Given the description of an element on the screen output the (x, y) to click on. 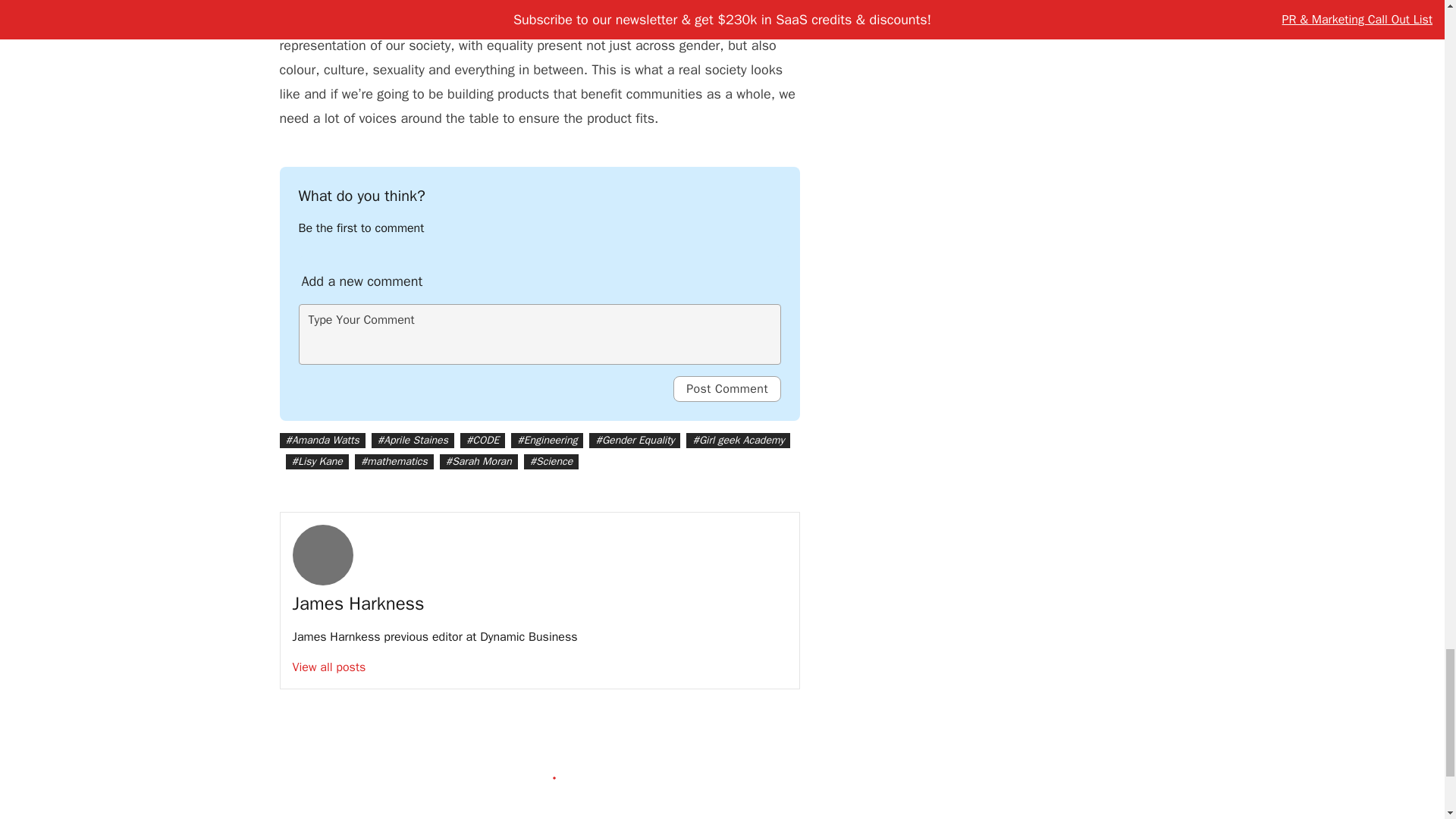
Post Comment (726, 388)
